Given the description of an element on the screen output the (x, y) to click on. 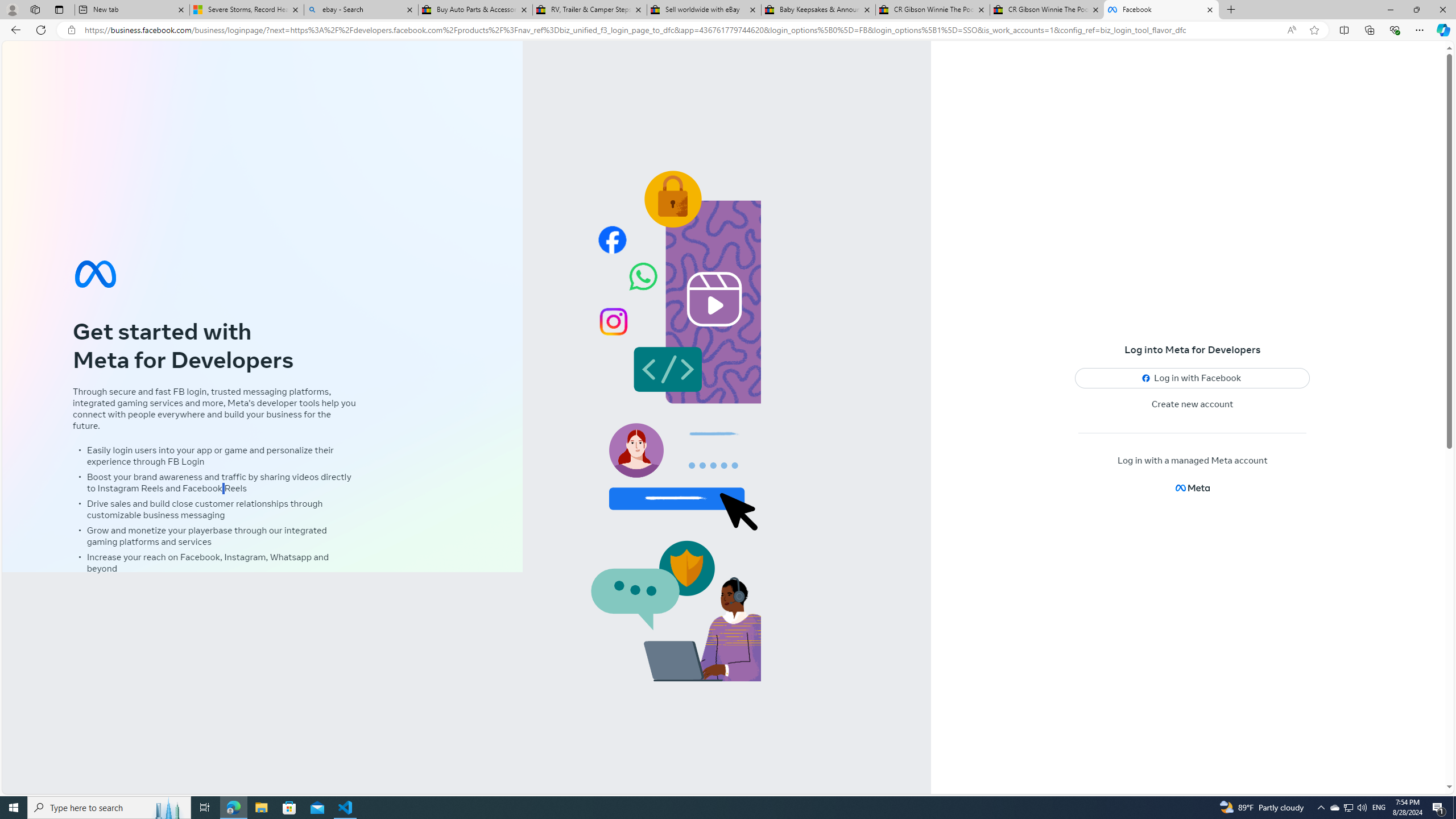
Meta symbol (95, 273)
